Given the description of an element on the screen output the (x, y) to click on. 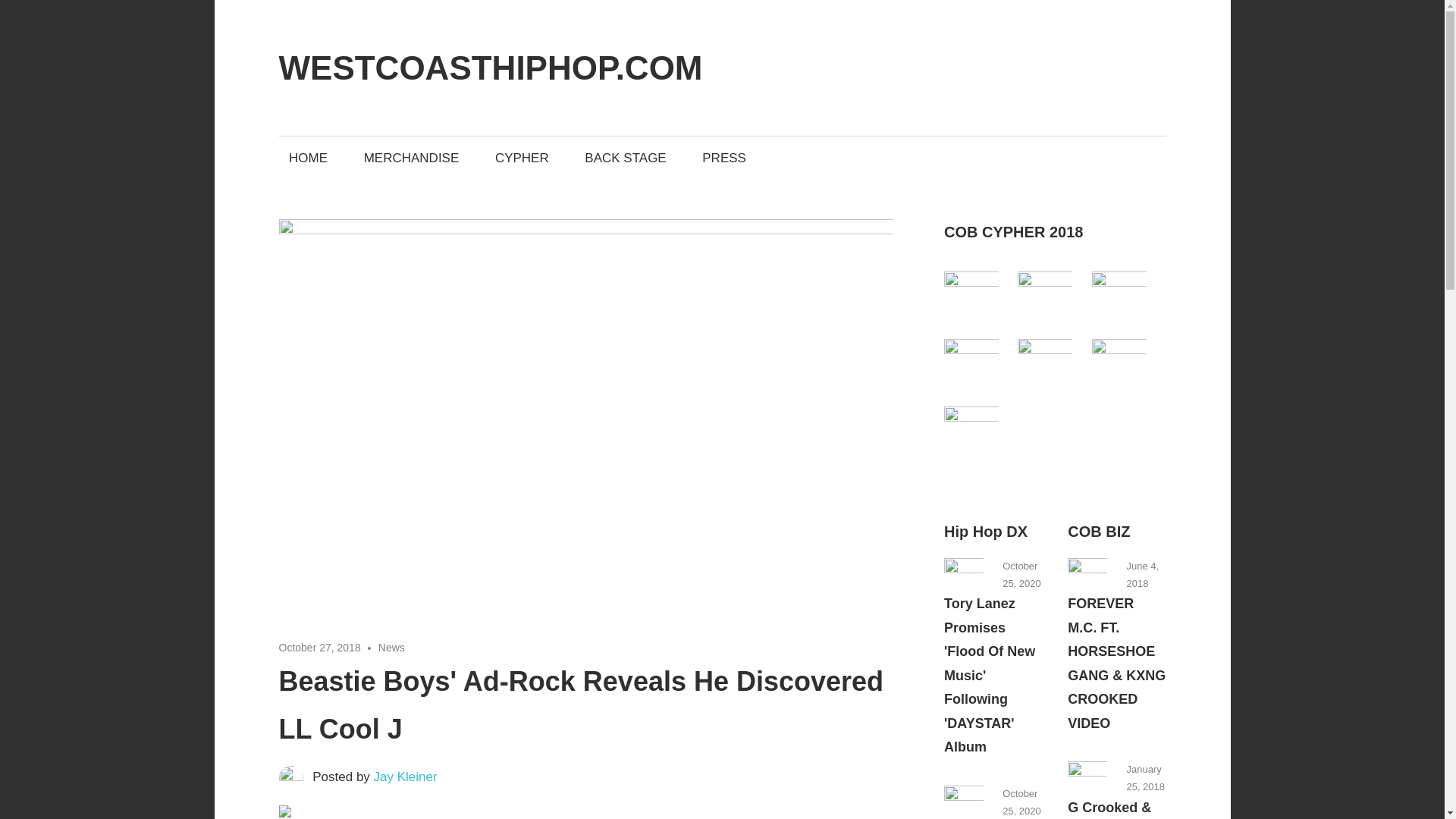
Jay Kleiner (406, 776)
7:22 am (1141, 574)
HOME (308, 157)
12:41 pm (1022, 801)
View all posts by Jay Kleiner (406, 776)
October 25, 2020 (1022, 801)
WESTCOASTHIPHOP.COM (491, 67)
3:44 pm (320, 647)
6:27 am (1144, 777)
View all posts from category News (985, 531)
BACK STAGE (626, 157)
CYPHER (521, 157)
October 25, 2020 (1022, 574)
October 27, 2018 (320, 647)
News (391, 647)
